Given the description of an element on the screen output the (x, y) to click on. 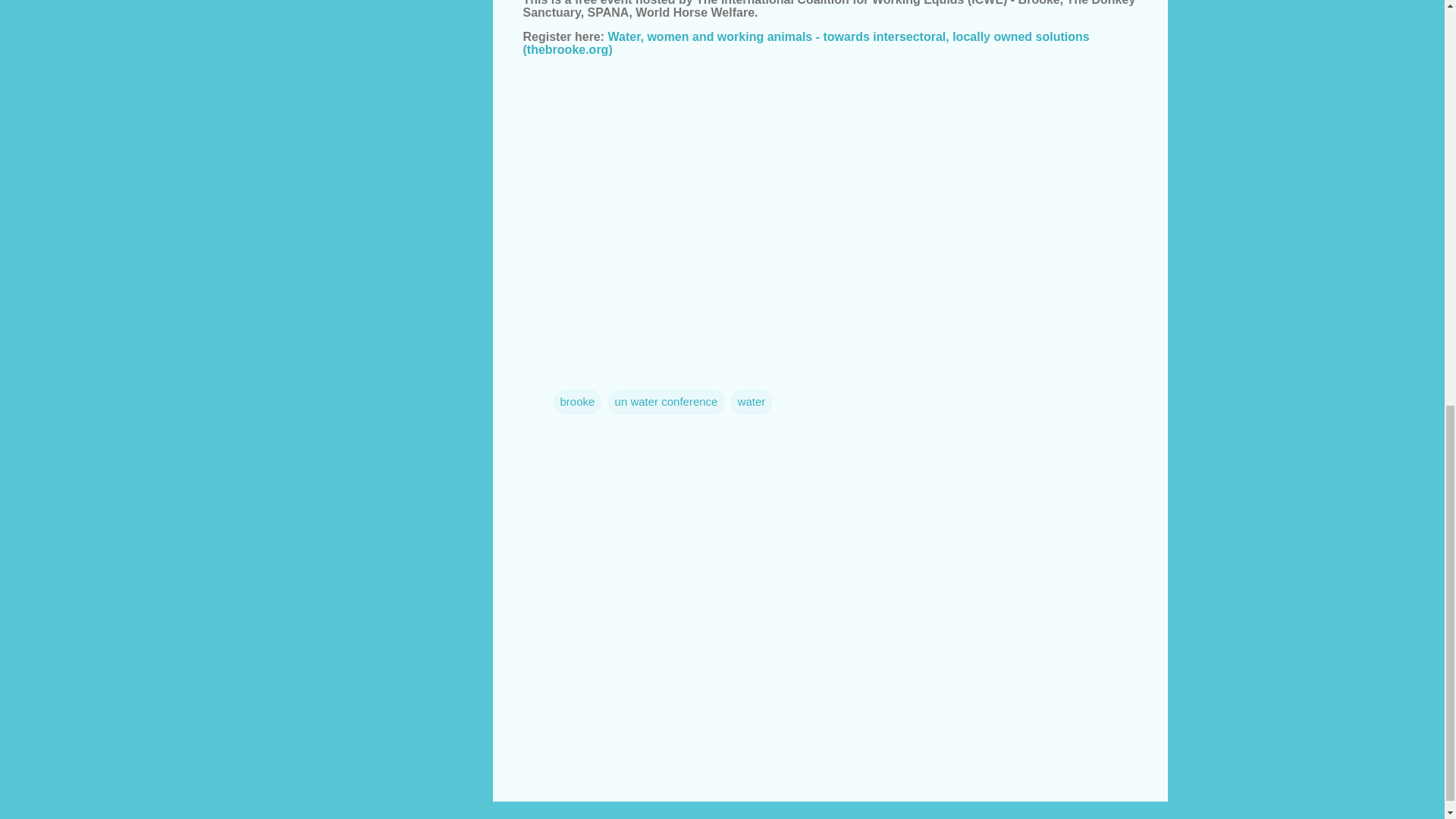
brooke (577, 401)
water (751, 401)
un water conference (666, 401)
